Given the description of an element on the screen output the (x, y) to click on. 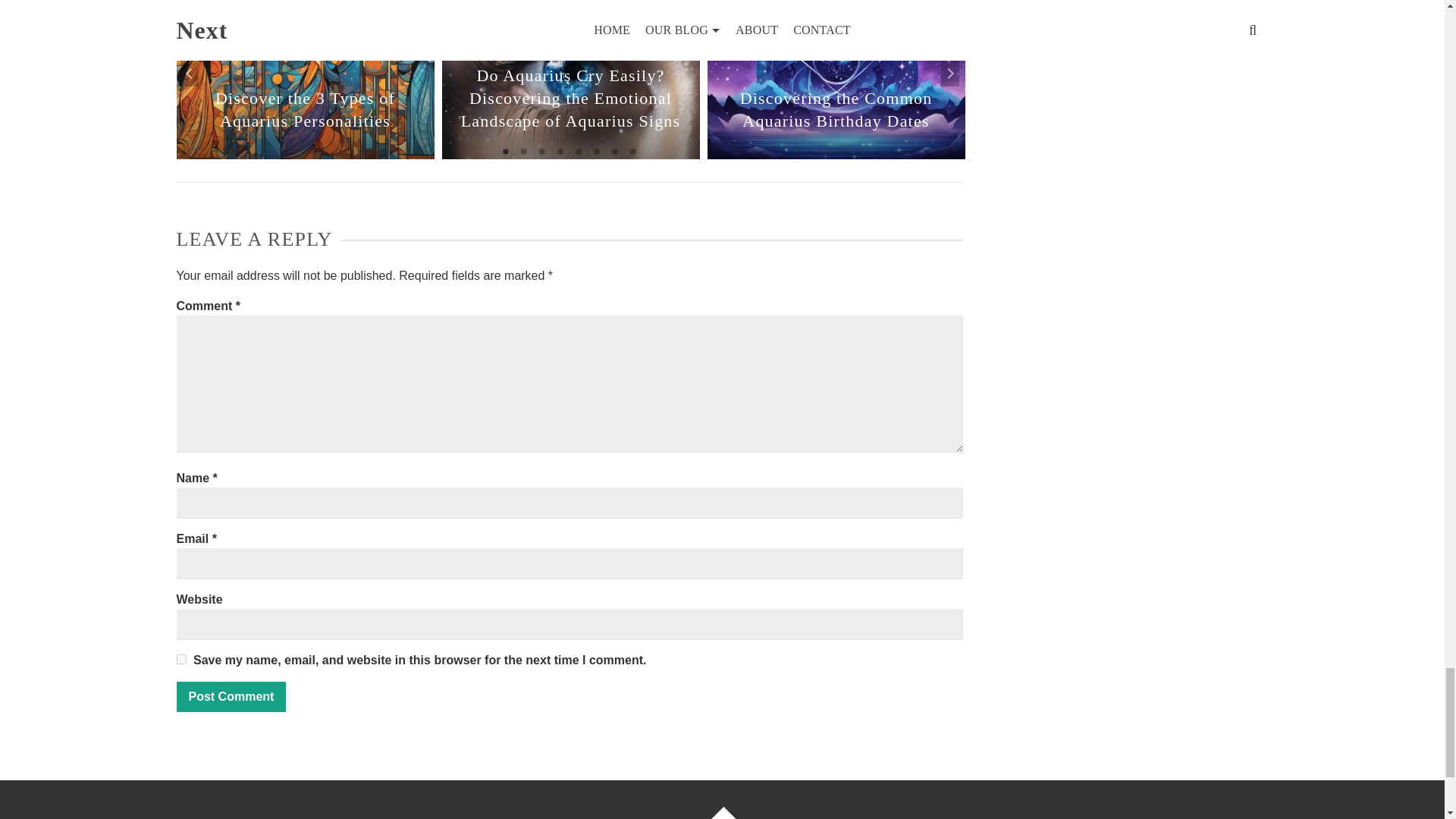
yes (181, 659)
Post Comment (230, 696)
